Given the description of an element on the screen output the (x, y) to click on. 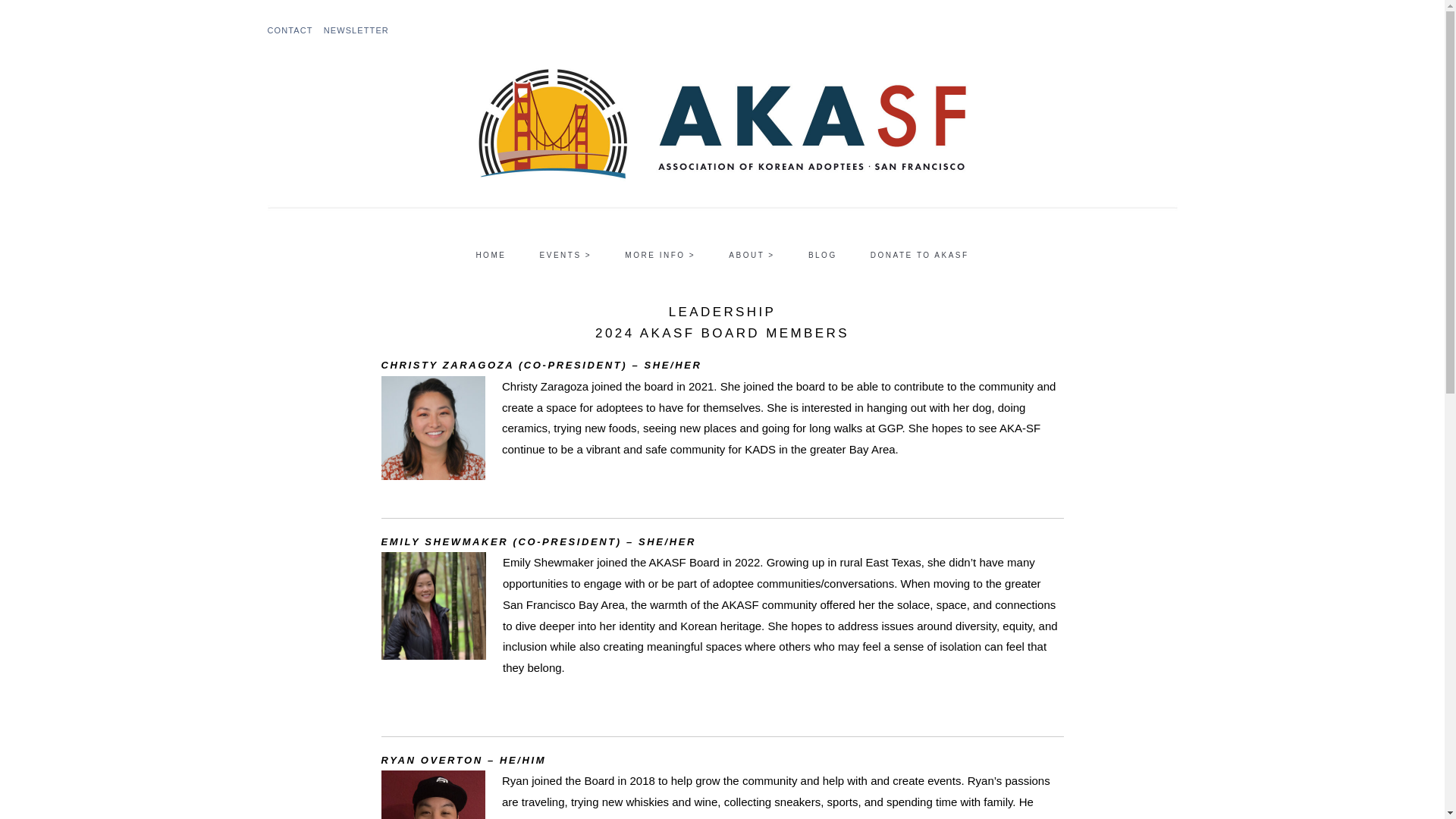
NEWSLETTER (355, 30)
CONTACT (289, 30)
